Given the description of an element on the screen output the (x, y) to click on. 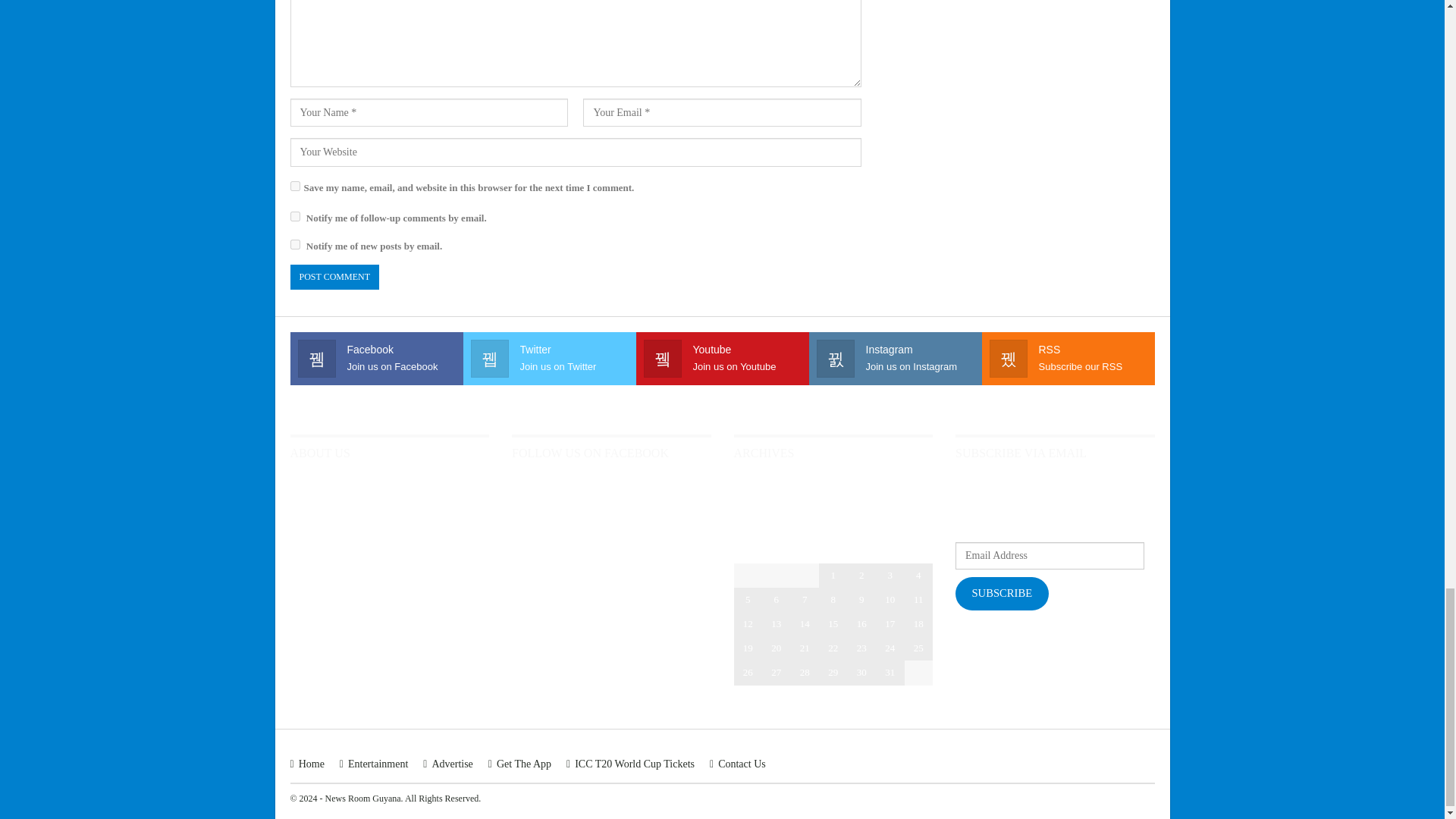
Post Comment (333, 276)
subscribe (294, 216)
subscribe (294, 244)
yes (294, 185)
